Given the description of an element on the screen output the (x, y) to click on. 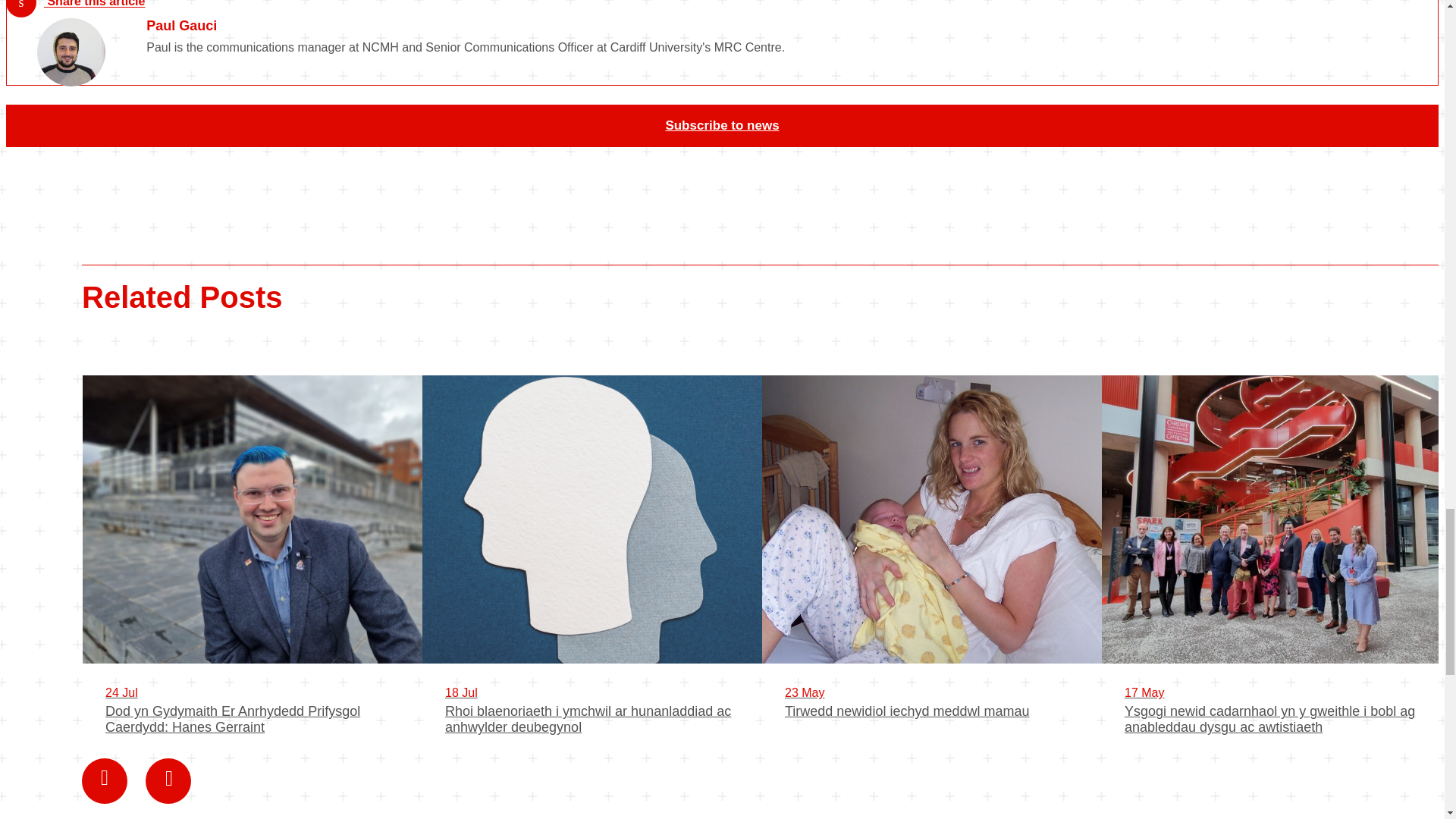
Share this article (74, 8)
